Given the description of an element on the screen output the (x, y) to click on. 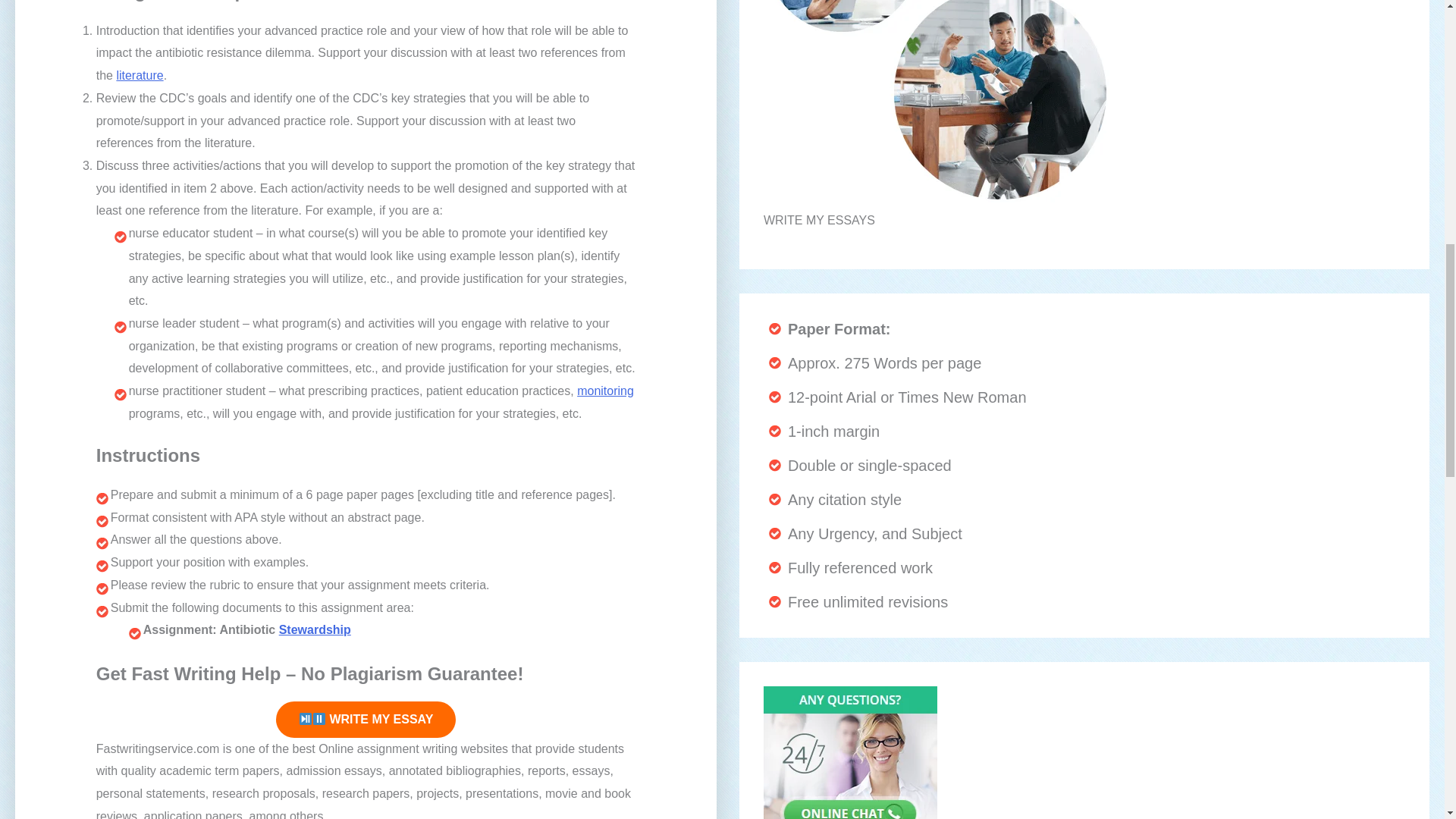
WRITE MY ESSAY (366, 719)
monitoring (604, 390)
Stewardship (314, 629)
literature (139, 74)
